Given the description of an element on the screen output the (x, y) to click on. 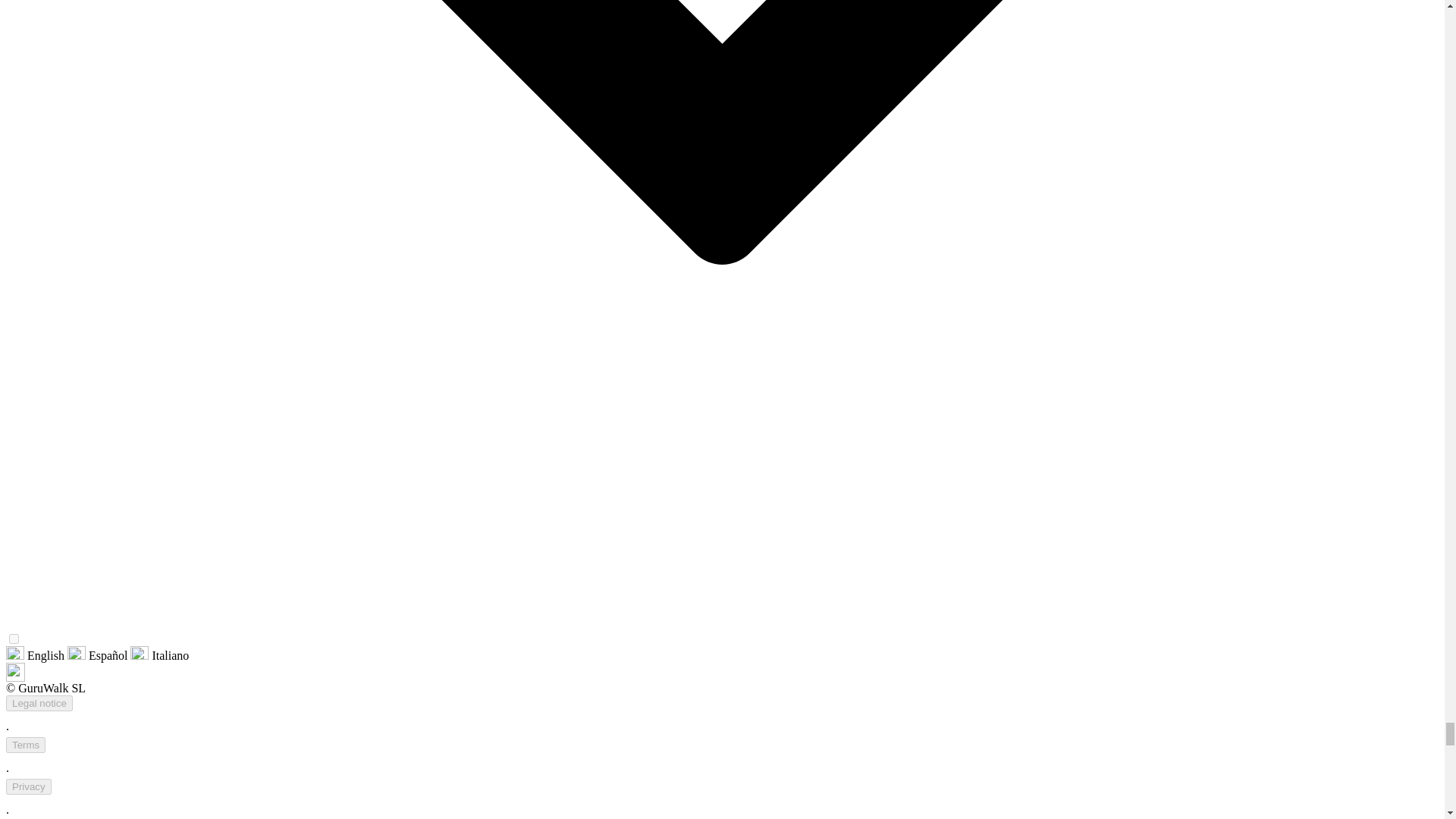
on (13, 638)
